Given the description of an element on the screen output the (x, y) to click on. 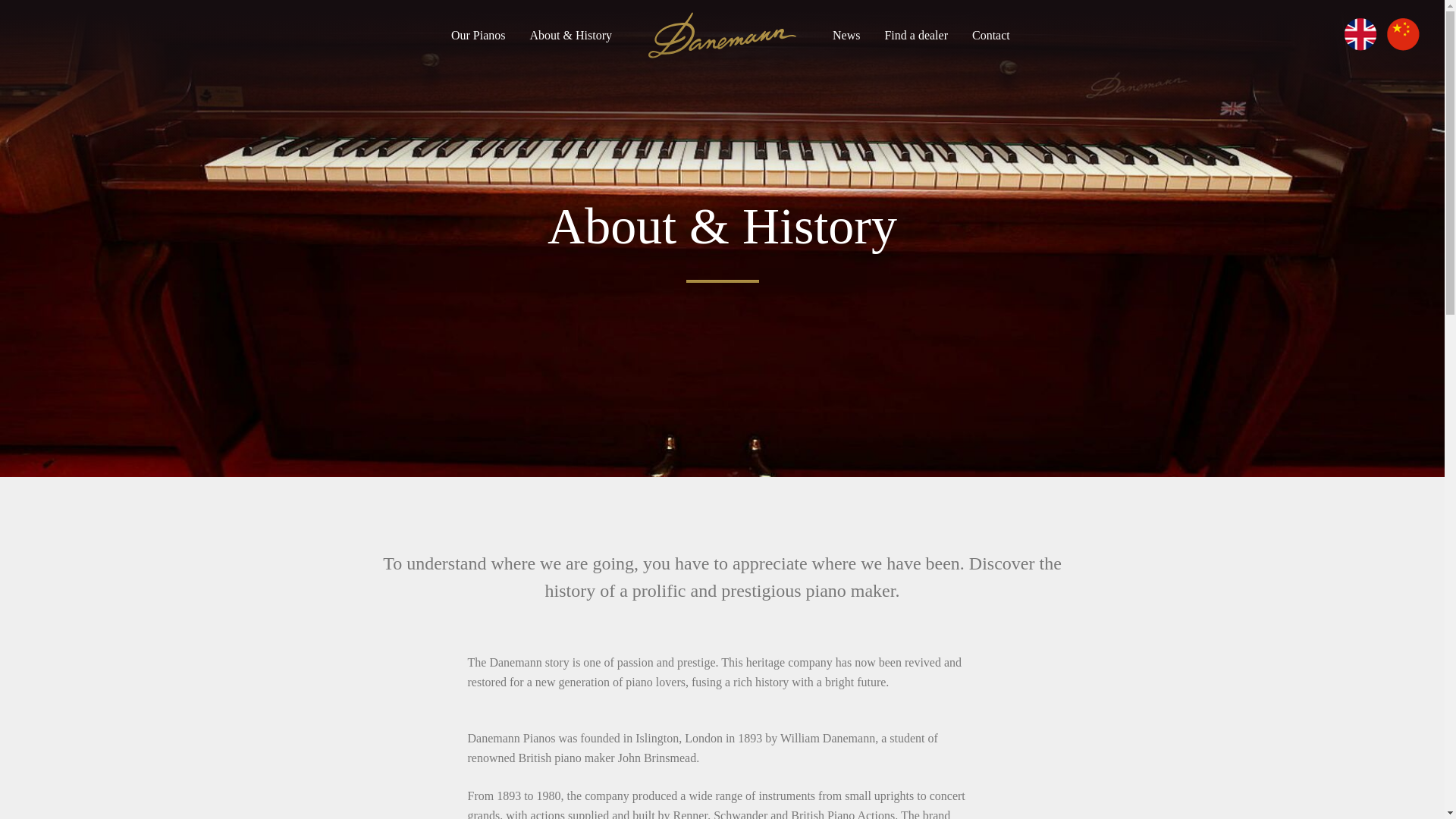
Find a dealer (915, 34)
Contact (991, 34)
News (846, 34)
Our Pianos (478, 34)
